Given the description of an element on the screen output the (x, y) to click on. 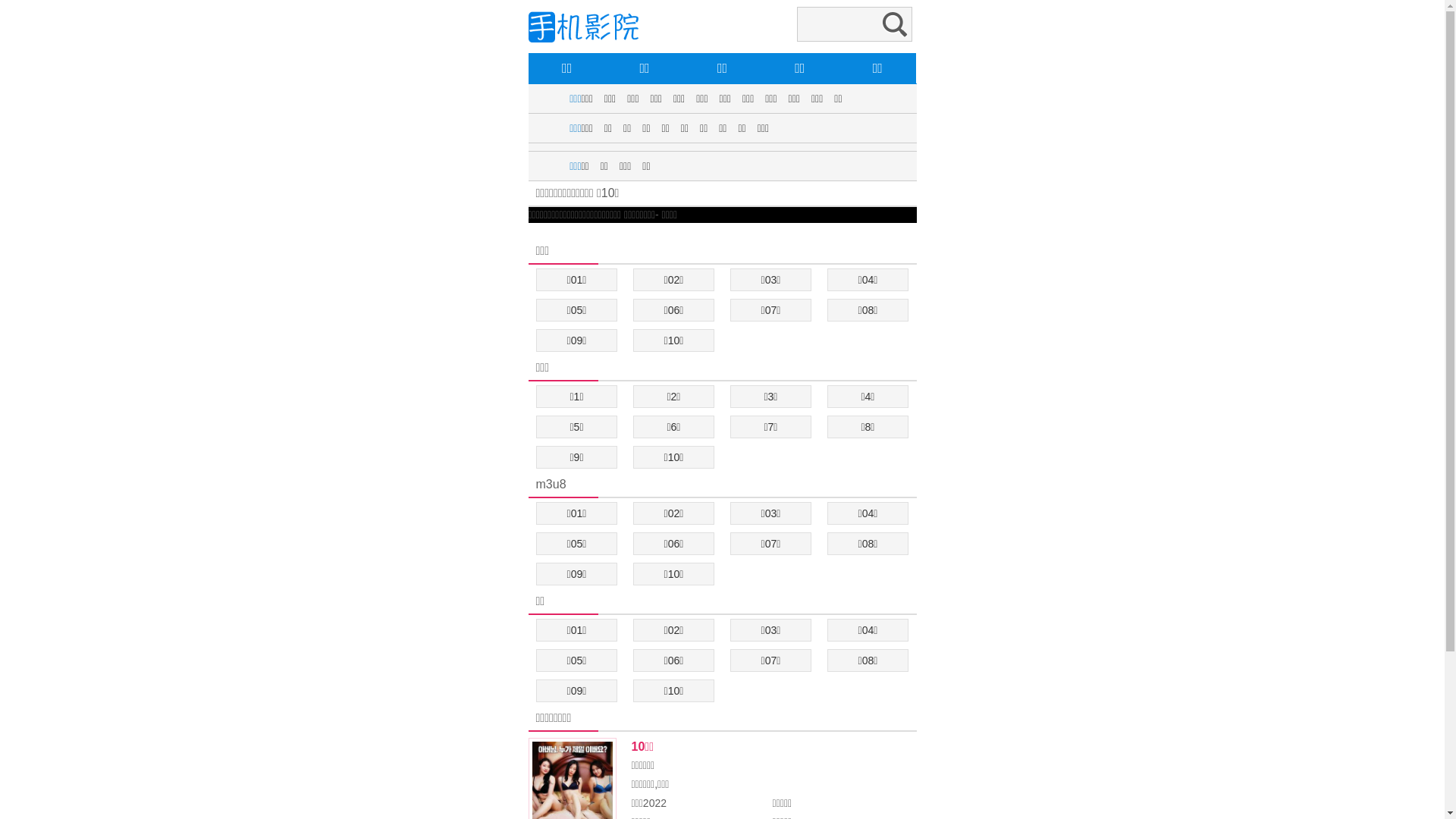
  Element type: text (528, 230)
